Given the description of an element on the screen output the (x, y) to click on. 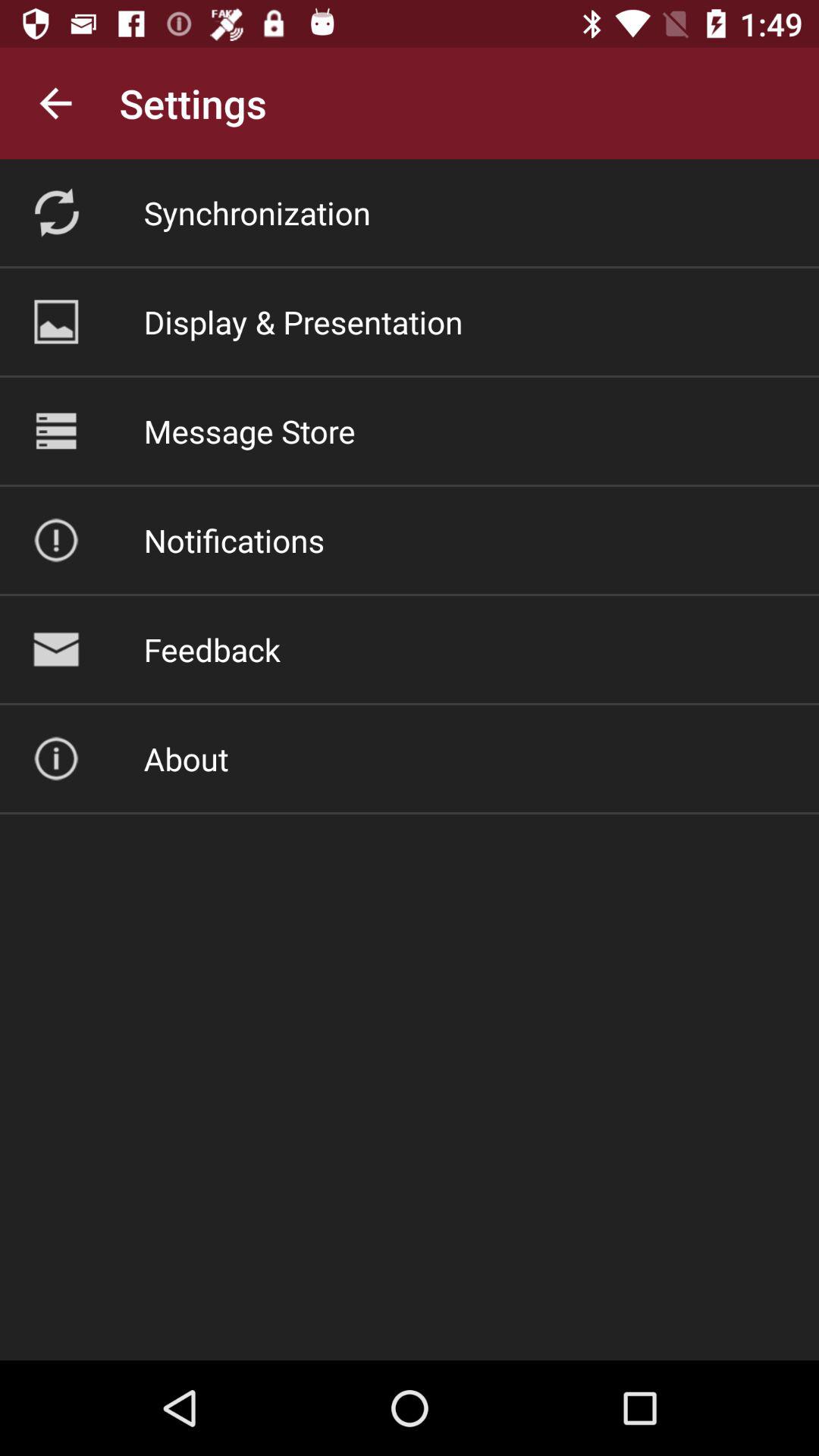
turn off the item above the notifications (249, 430)
